Given the description of an element on the screen output the (x, y) to click on. 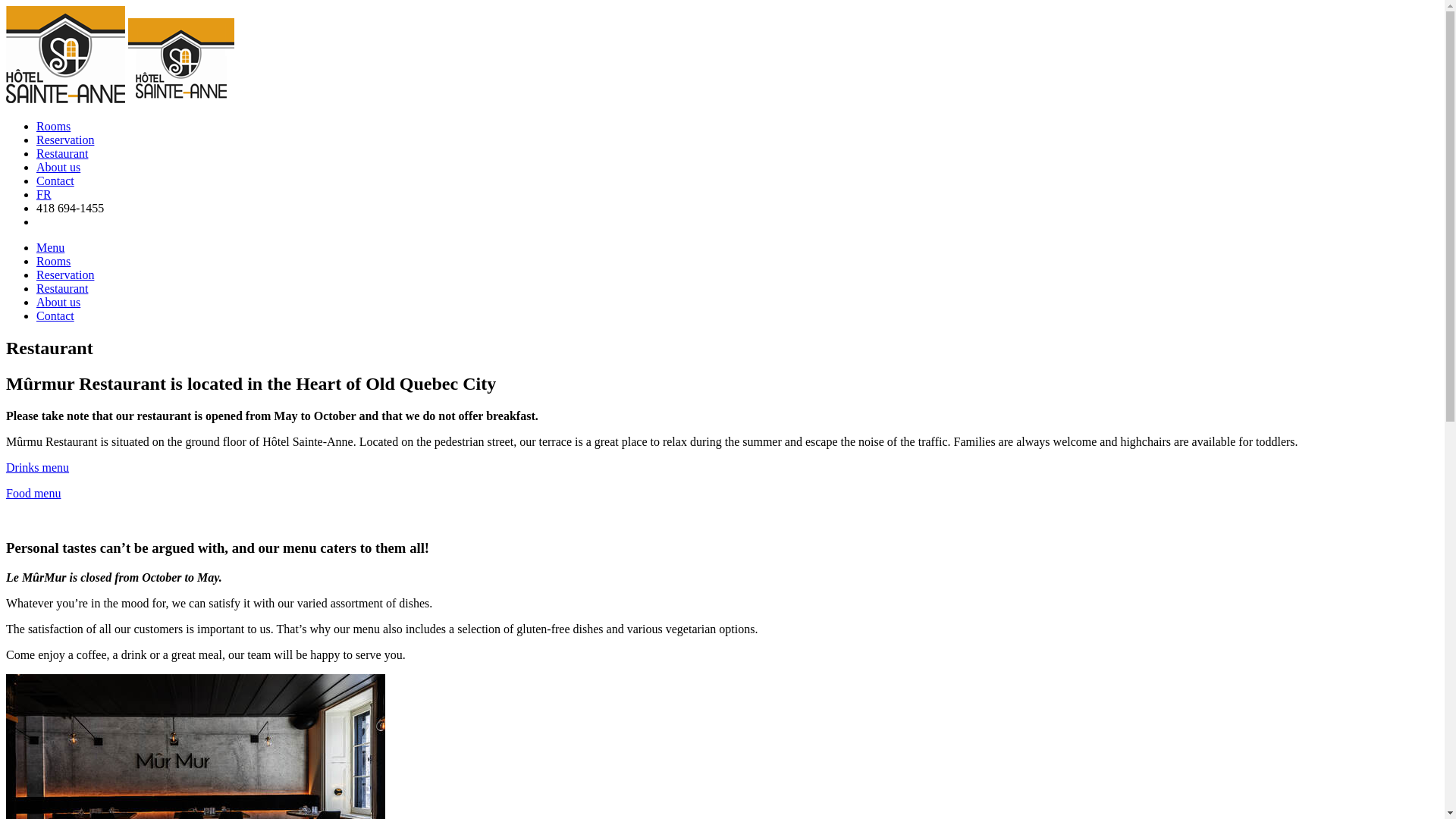
Restaurant (61, 153)
Food menu (33, 492)
Reservation (65, 274)
Reservation (65, 139)
Reservation (65, 139)
About us (58, 166)
About us (58, 301)
Restaurant (61, 287)
FR (43, 194)
Contact (55, 180)
